Given the description of an element on the screen output the (x, y) to click on. 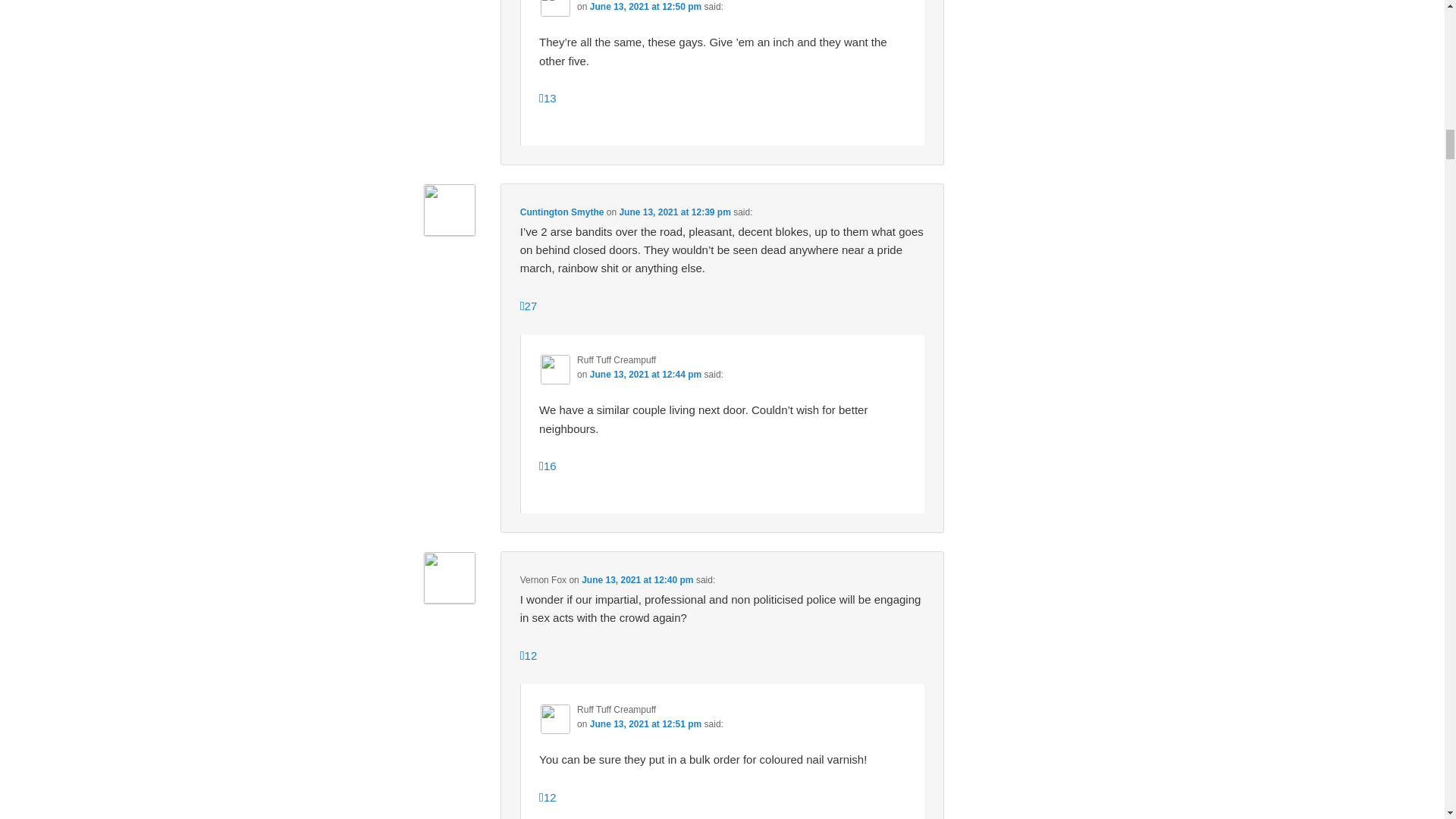
June 13, 2021 at 12:50 pm (645, 6)
13 (547, 97)
June 13, 2021 at 12:39 pm (674, 212)
Cuntington Smythe (561, 212)
